Given the description of an element on the screen output the (x, y) to click on. 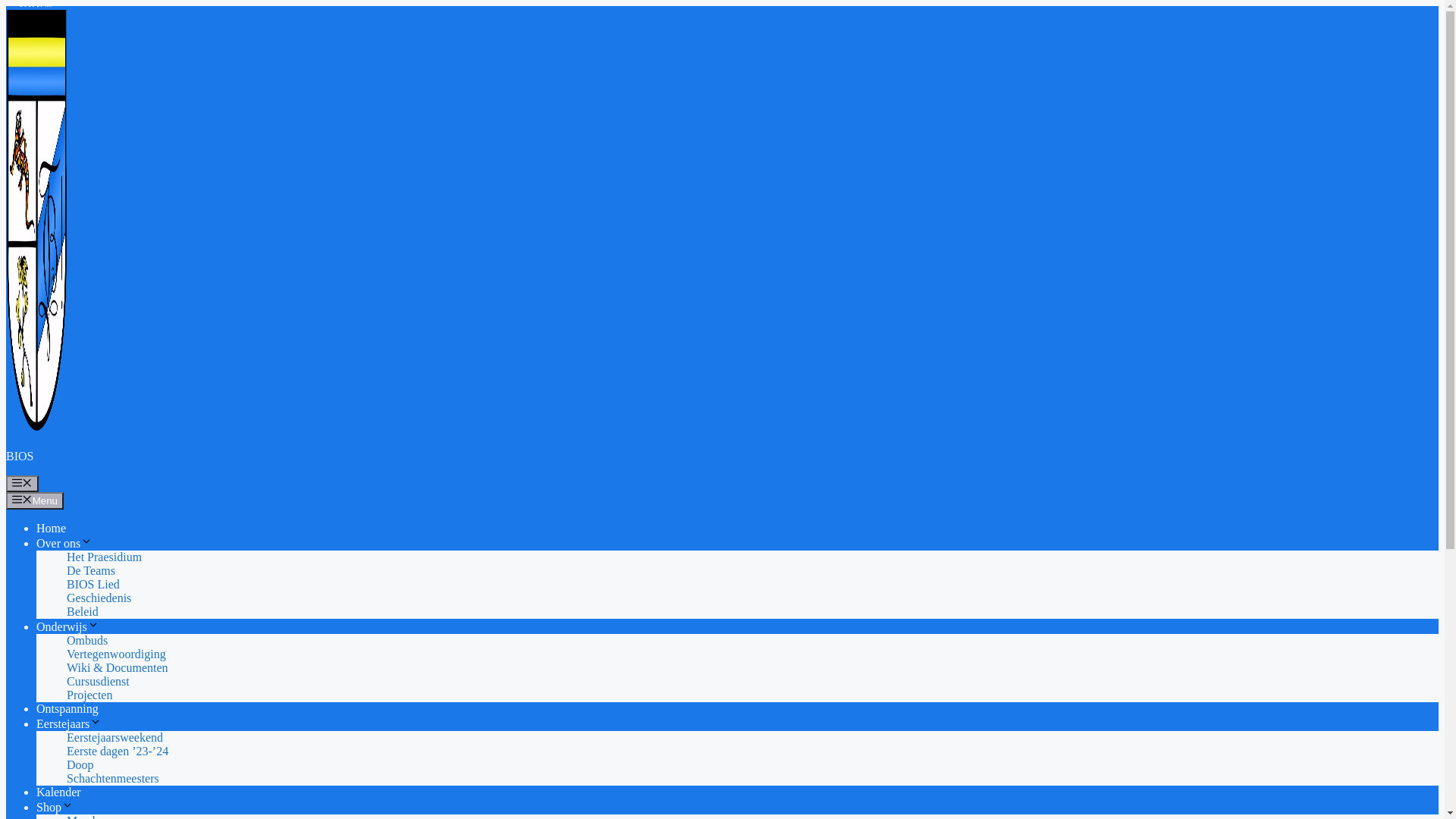
Onderwijs Element type: text (67, 626)
Shop Element type: text (54, 806)
BIOS Lied Element type: text (92, 583)
Beleid Element type: text (82, 611)
Geschiedenis Element type: text (98, 597)
Kalender Element type: text (58, 791)
Menu Element type: text (22, 483)
Eerstejaarsweekend Element type: text (114, 737)
Schachtenmeesters Element type: text (112, 777)
Home Element type: text (50, 527)
Ontspanning Element type: text (67, 708)
Wiki & Documenten Element type: text (117, 667)
Ga naar de inhoud Element type: text (5, 5)
Menu Element type: text (34, 500)
Ombuds Element type: text (86, 639)
Over ons Element type: text (64, 542)
Het Praesidium Element type: text (103, 556)
Vertegenwoordiging Element type: text (116, 653)
De Teams Element type: text (90, 570)
Cursusdienst Element type: text (97, 680)
Eerstejaars Element type: text (68, 723)
Projecten Element type: text (89, 694)
BIOS Element type: text (19, 455)
Doop Element type: text (80, 764)
